Given the description of an element on the screen output the (x, y) to click on. 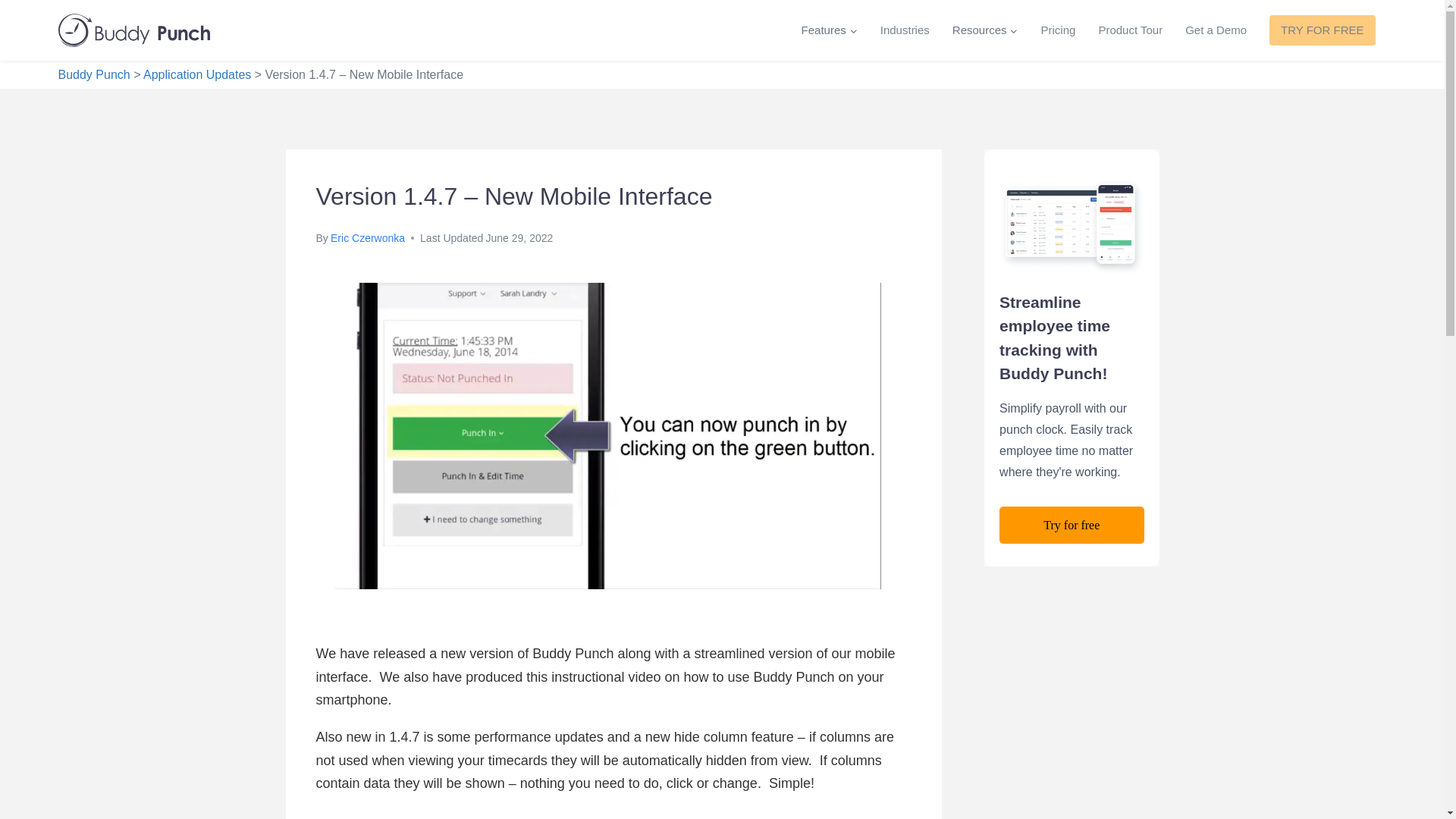
TRY FOR FREE (1321, 30)
Resources (984, 29)
Get a Demo (1215, 29)
Go to Buddy Punch. (93, 74)
Go to the Application Updates Category archives. (196, 74)
TRY FOR FREE (1321, 30)
Pricing (1058, 29)
Features (829, 29)
Product Tour (1129, 29)
Industries (904, 29)
